Given the description of an element on the screen output the (x, y) to click on. 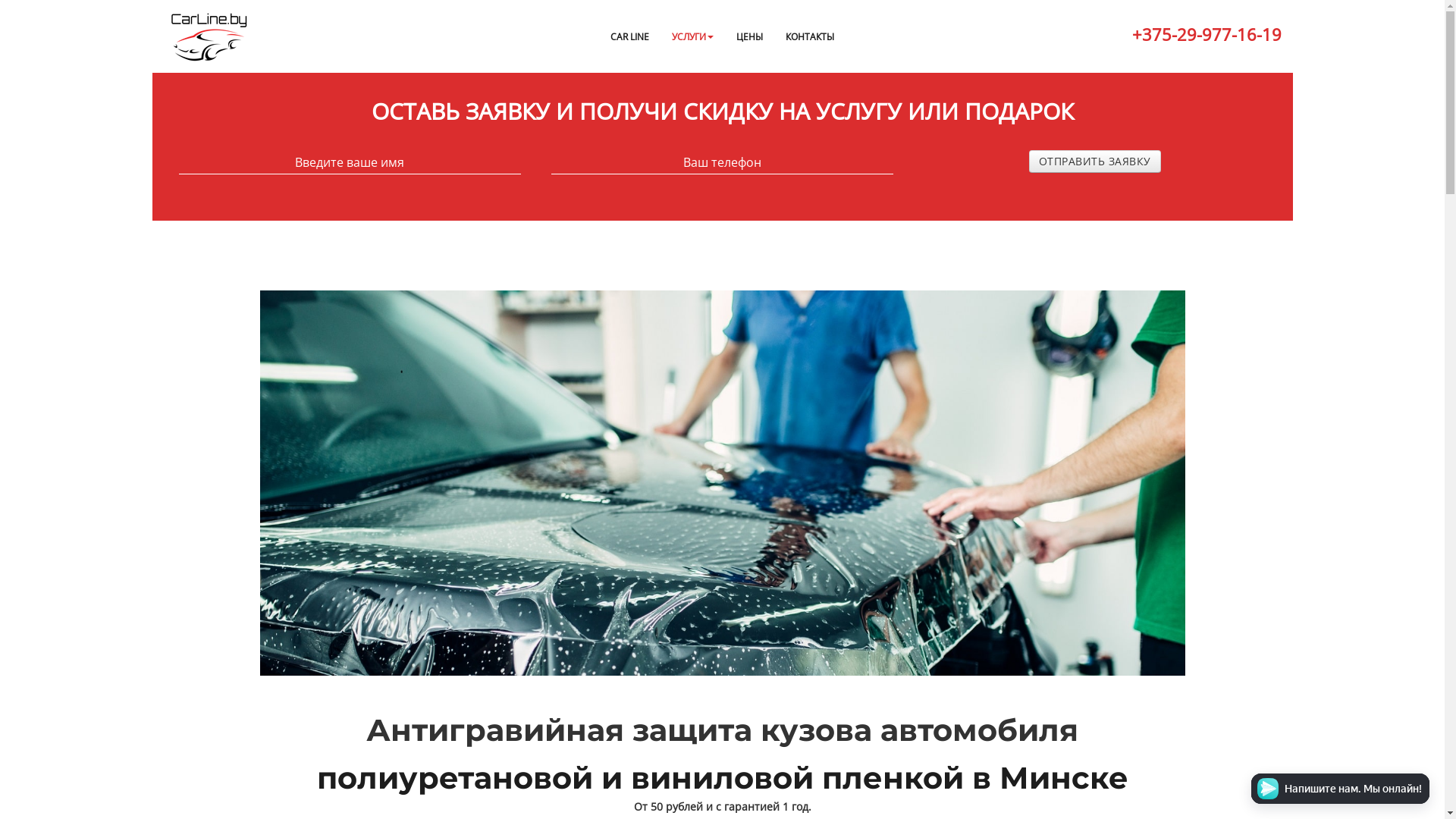
CAR LINE Element type: text (629, 36)
Car line Element type: hover (208, 36)
+375-29-977-16-19 Element type: text (1205, 36)
